Given the description of an element on the screen output the (x, y) to click on. 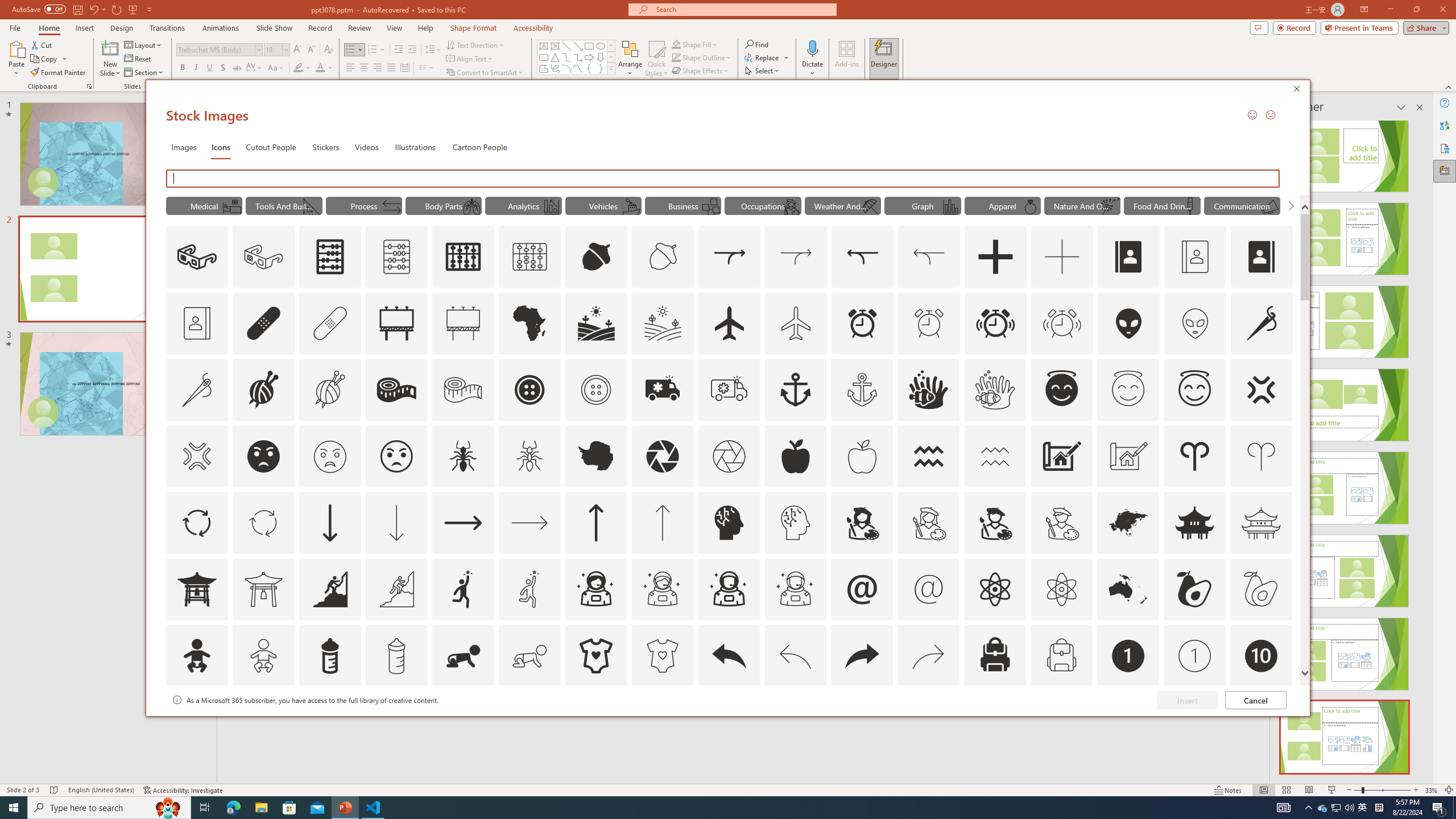
AutomationID: Icons_BabyBottle_M (395, 655)
AutomationID: Icons_BabyOnesie (595, 655)
AutomationID: Icons_Aspiration (329, 588)
"Analytics" Icons. (523, 205)
AutomationID: Icons_AngelFace_M (1128, 389)
AutomationID: Icons_Badge9_M (1260, 721)
AutomationID: Icons_AlienFace_M (1194, 323)
